Given the description of an element on the screen output the (x, y) to click on. 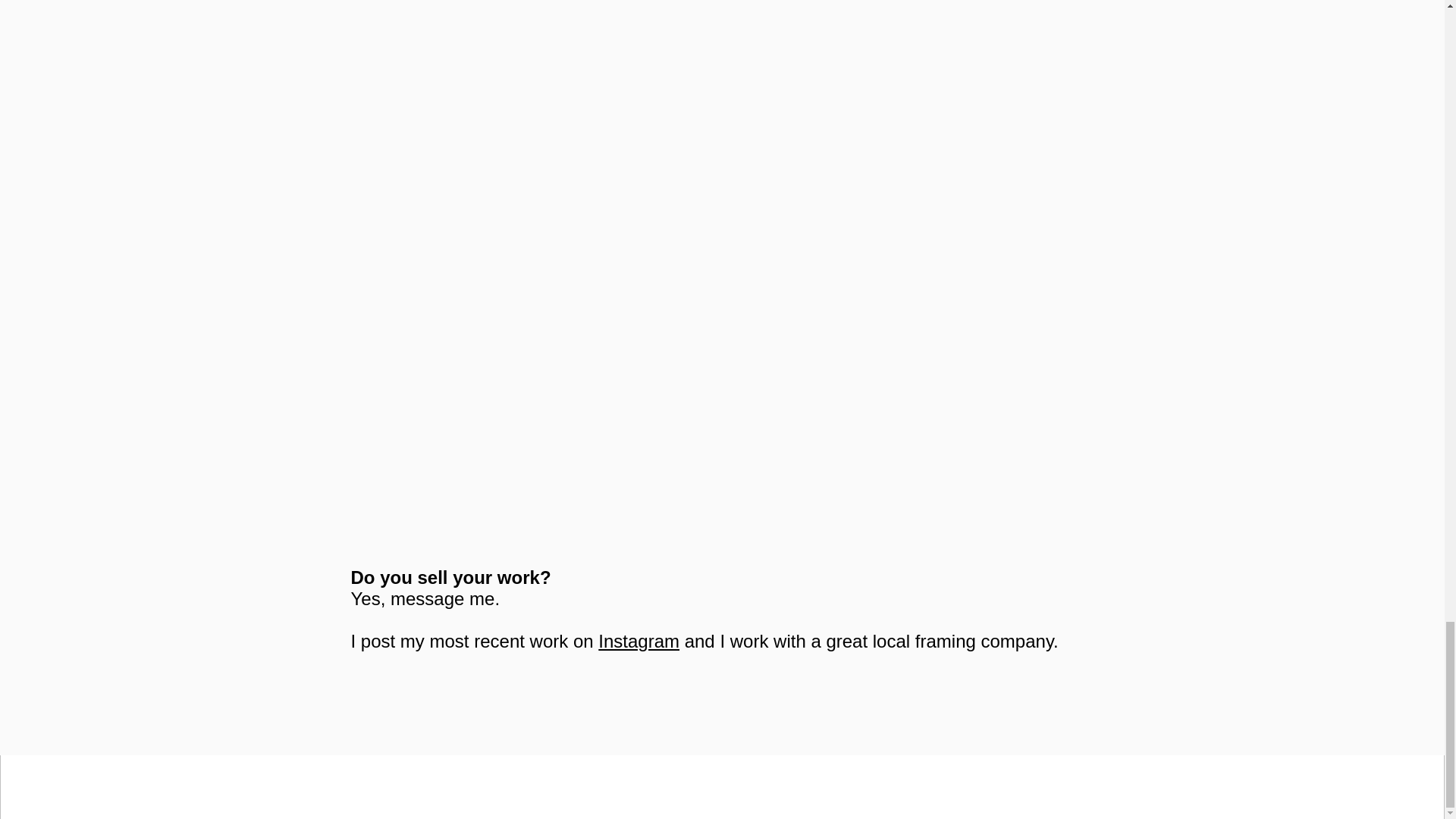
Instagram (638, 640)
